Given the description of an element on the screen output the (x, y) to click on. 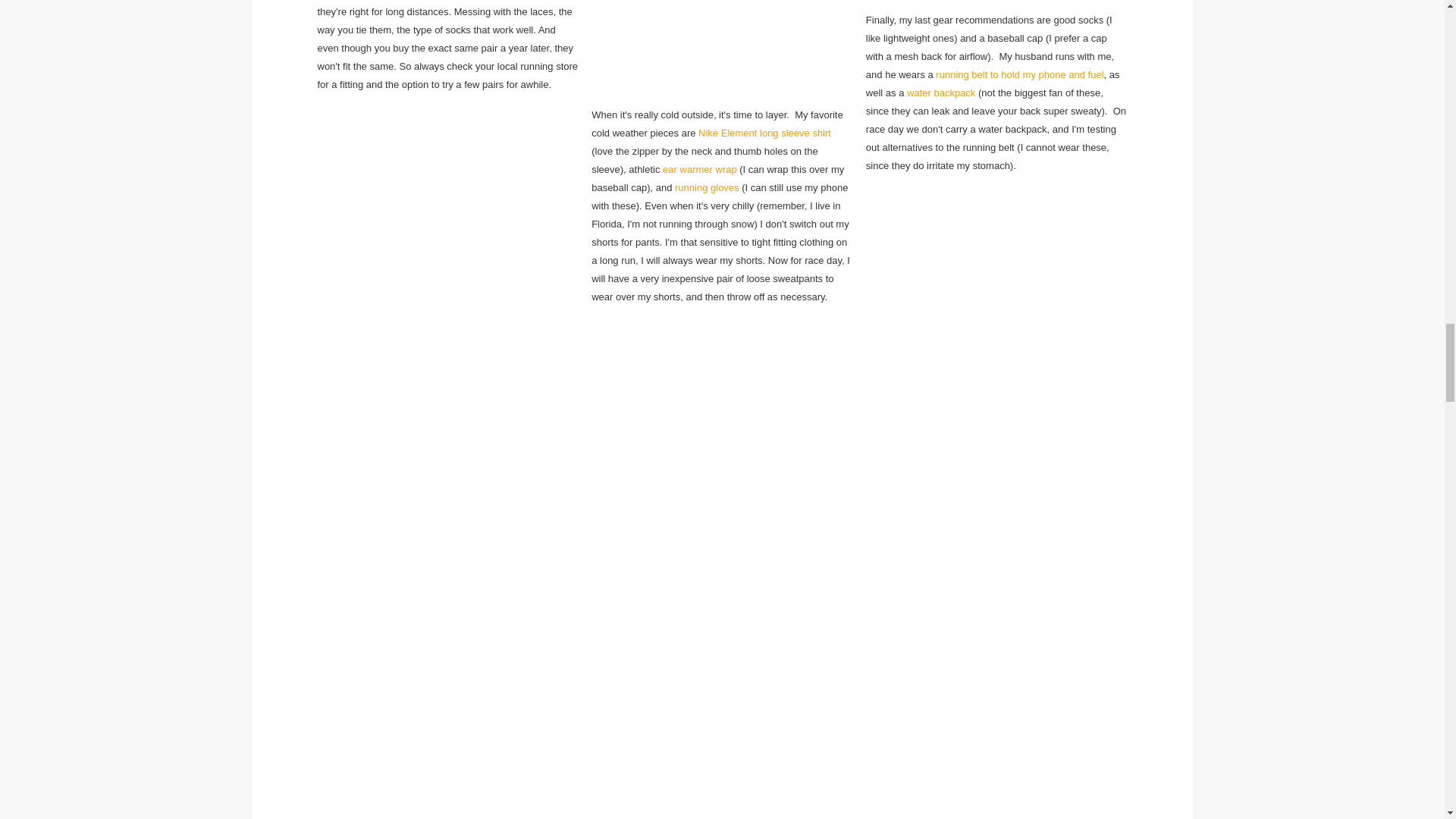
water backpack (941, 92)
running belt to hold my phone and fuel (1019, 74)
running gloves (707, 187)
Nike Element long sleeve shirt (764, 132)
ear warmer wrap (699, 169)
